Given the description of an element on the screen output the (x, y) to click on. 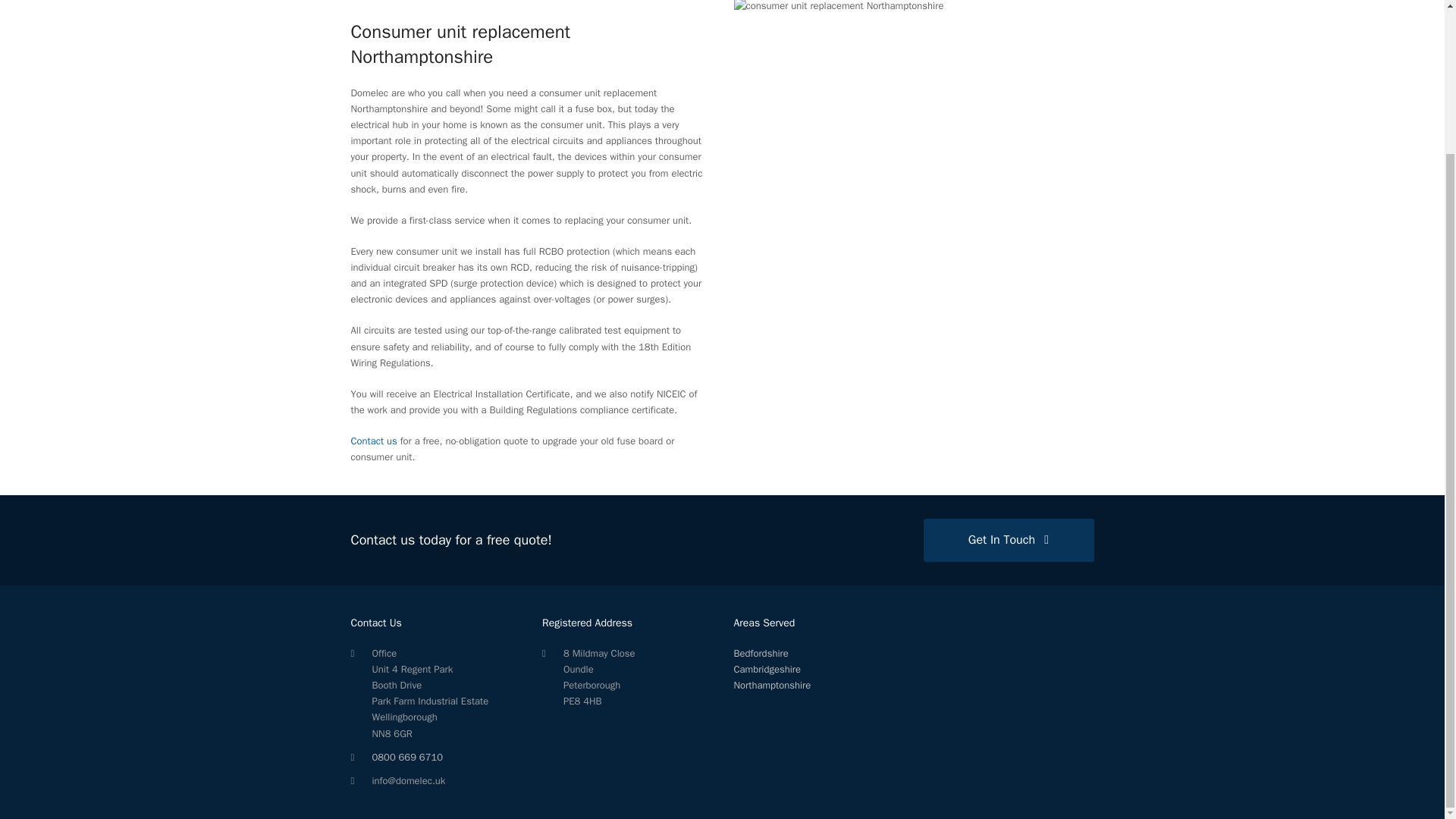
Northamptonshire (771, 684)
Contact us (373, 440)
Bedfordshire (761, 653)
Cambridgeshire (767, 668)
0800 669 6710 (406, 757)
Get In Touch (1008, 539)
